Given the description of an element on the screen output the (x, y) to click on. 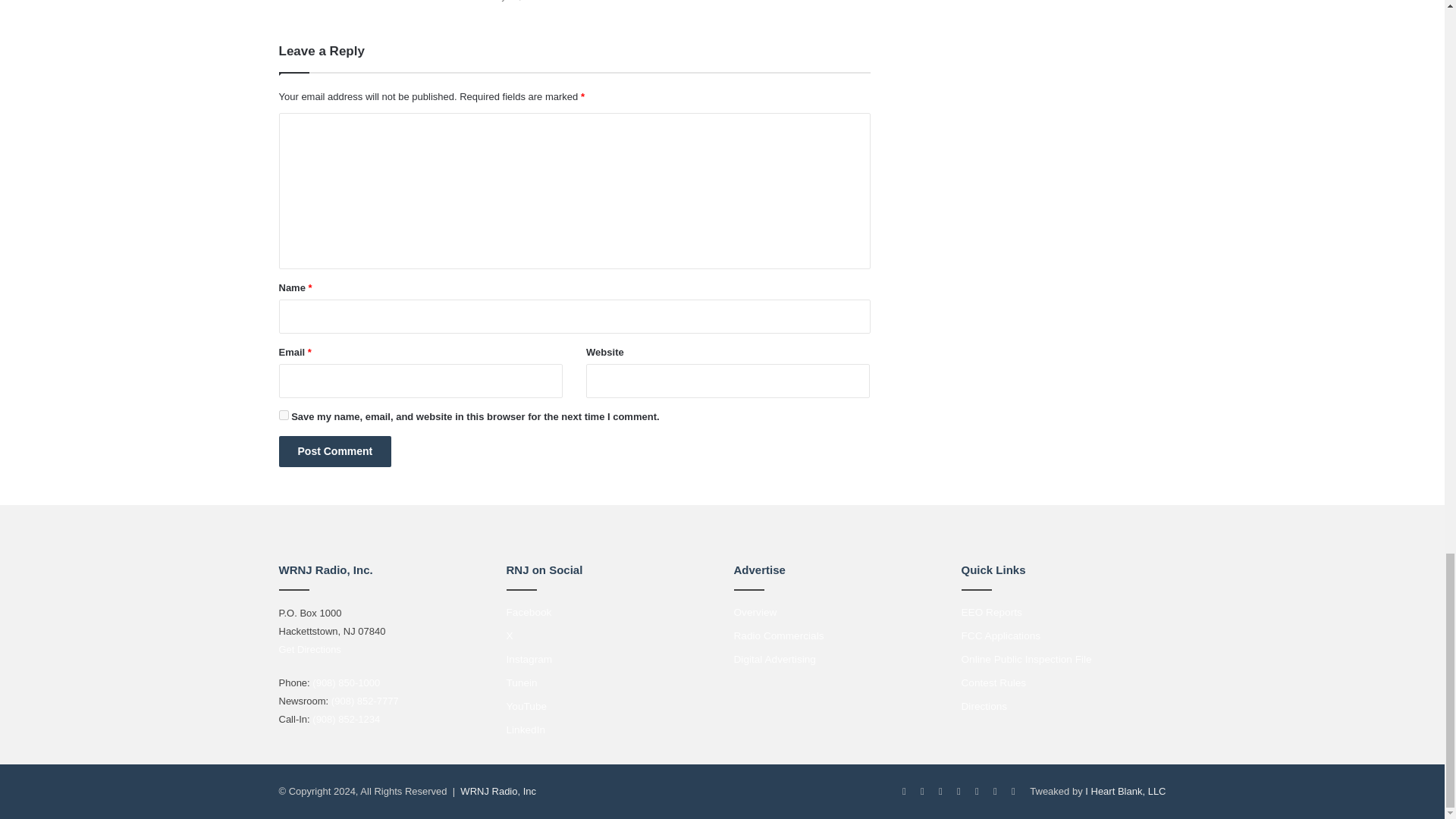
yes (283, 415)
Post Comment (335, 450)
